Given the description of an element on the screen output the (x, y) to click on. 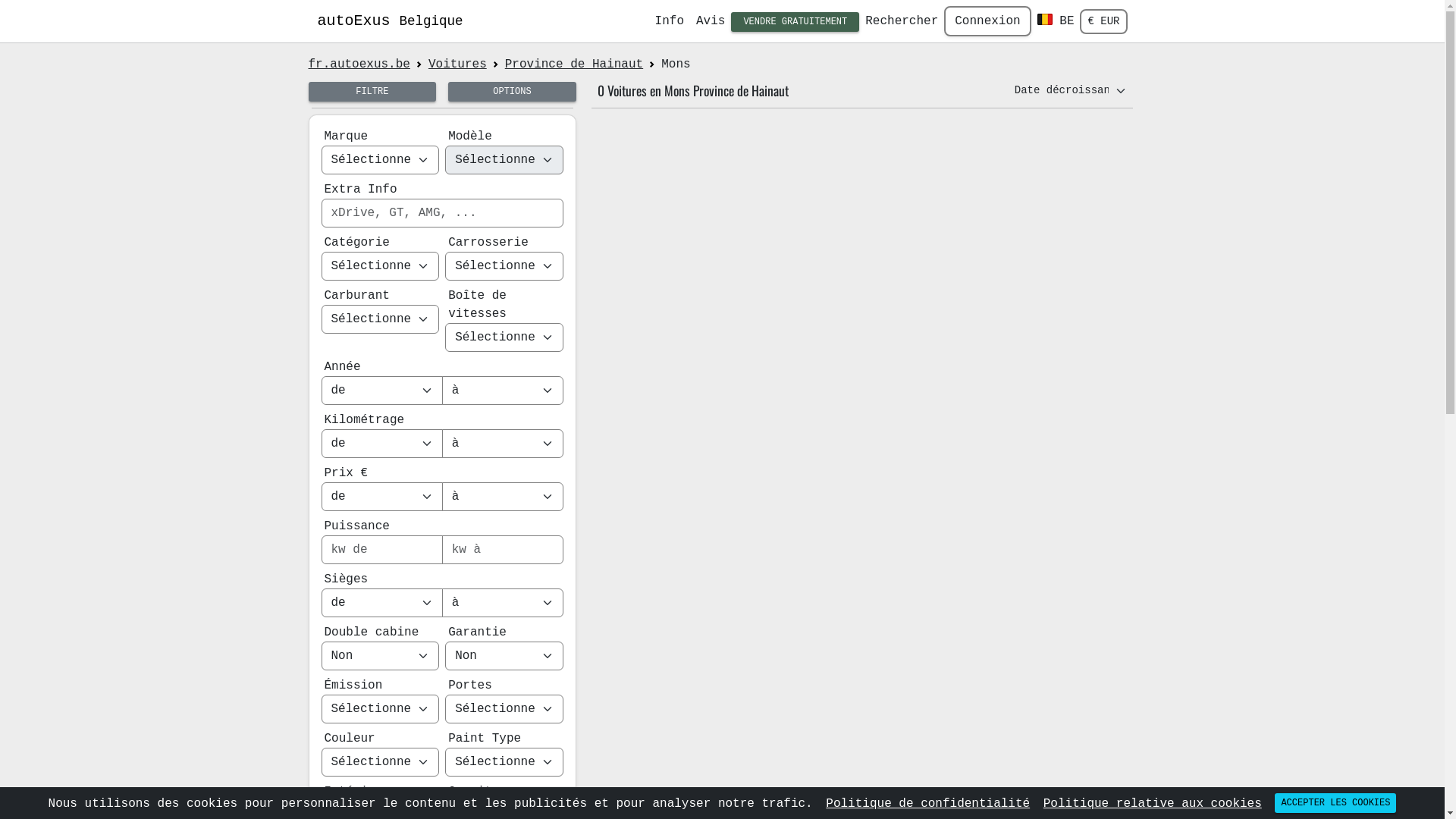
Rechercher Element type: text (901, 21)
Info Element type: text (669, 21)
VENDRE GRATUITEMENT Element type: text (795, 21)
fr.autoexus.be Element type: text (358, 64)
FILTRE Element type: text (371, 91)
Politique relative aux cookies Element type: text (1152, 803)
Voitures Element type: text (457, 64)
OPTIONS Element type: text (512, 91)
ACCEPTER LES COOKIES Element type: text (1335, 802)
autoExus Belgique Element type: text (389, 21)
Connexion Element type: text (987, 21)
Avis Element type: text (710, 21)
Province de Hainaut Element type: text (574, 64)
BE Element type: text (1055, 21)
